Given the description of an element on the screen output the (x, y) to click on. 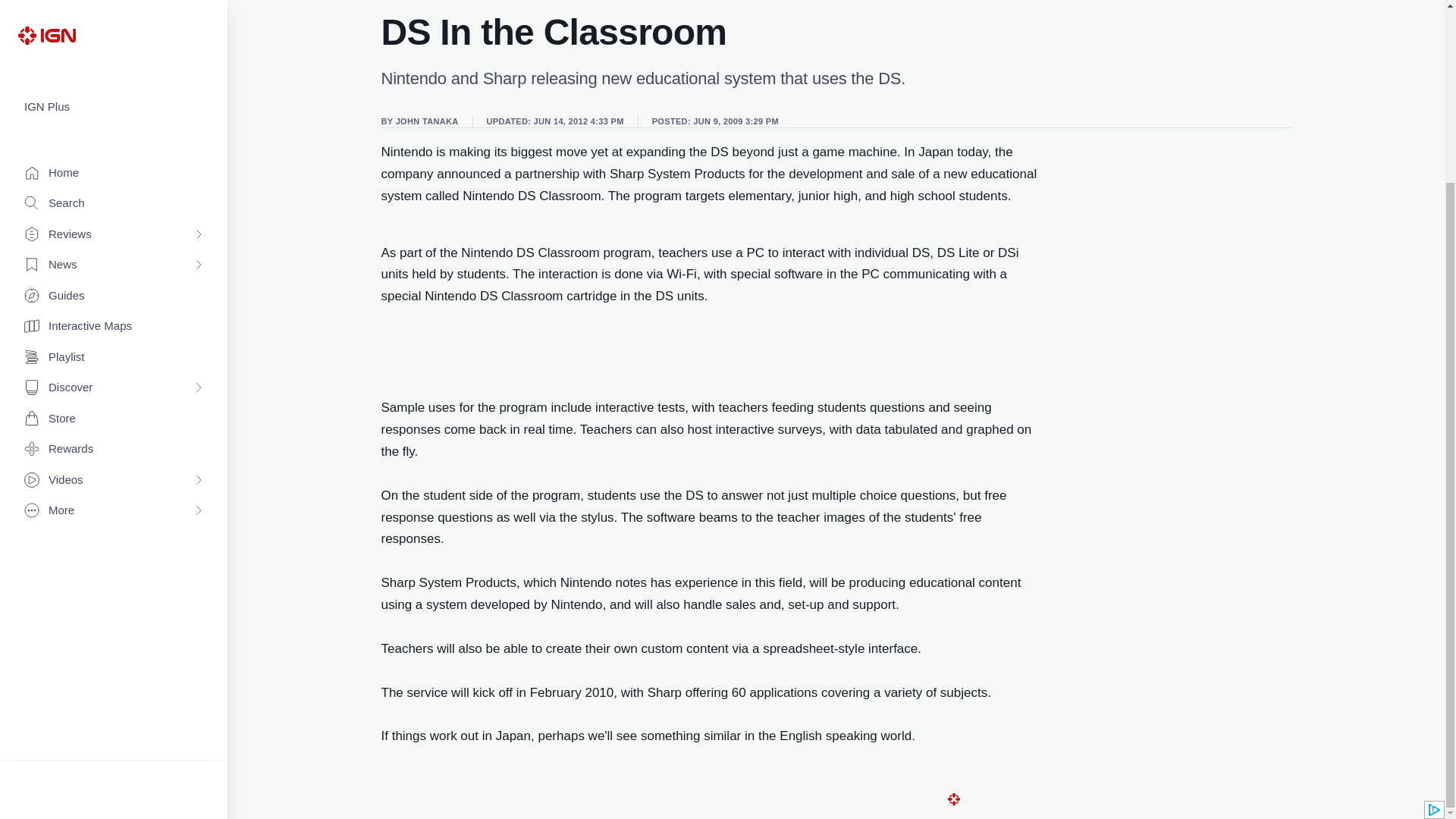
Interactive Maps (113, 101)
Playlist (113, 132)
Playlist (113, 132)
Interactive Maps (113, 101)
Store (113, 193)
Videos (113, 255)
Store (113, 193)
Reviews (113, 12)
Rewards (113, 224)
Guides (113, 70)
Reviews (113, 12)
More (113, 286)
Discover (113, 163)
Rewards (113, 224)
More (113, 286)
